Given the description of an element on the screen output the (x, y) to click on. 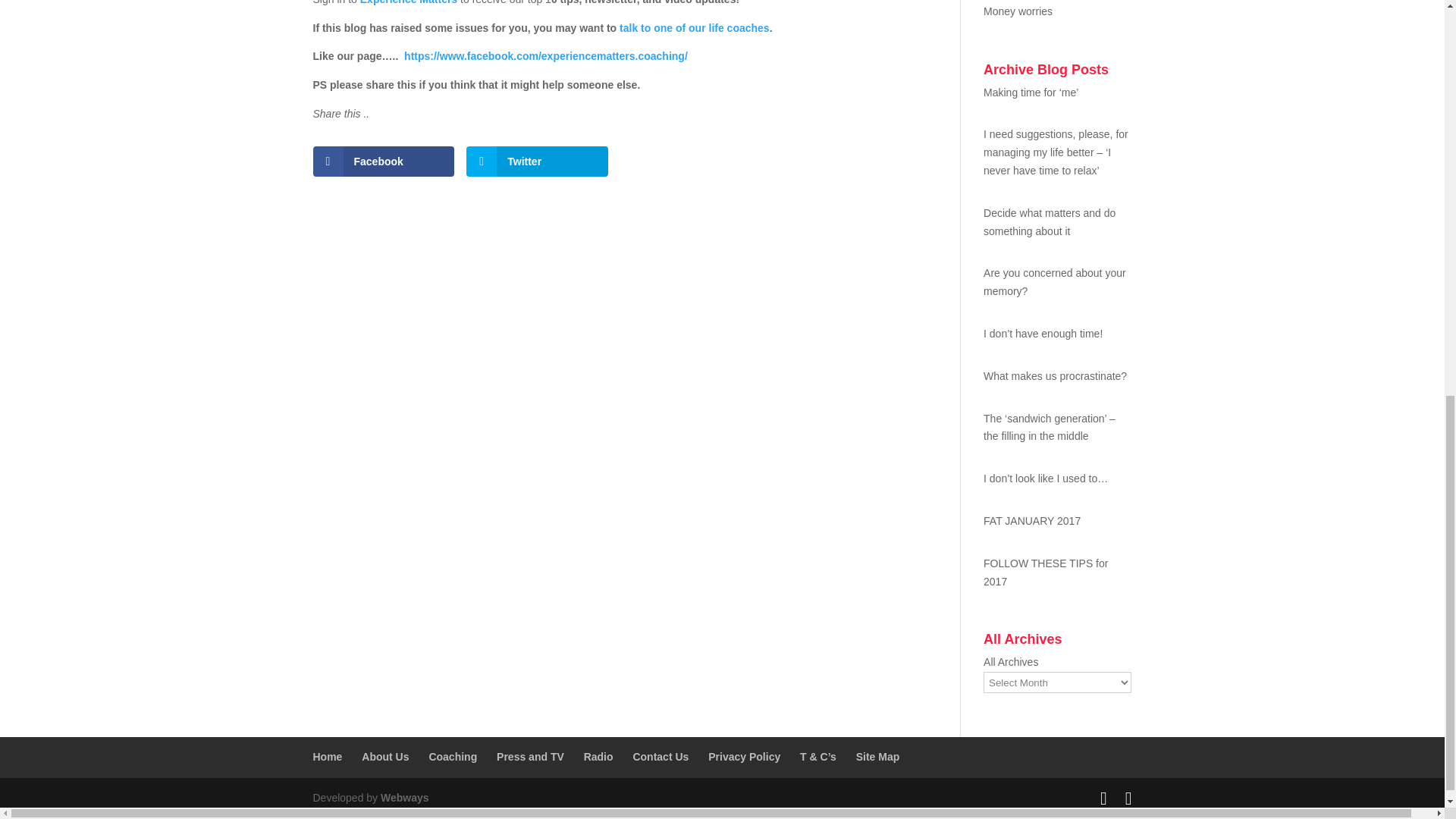
Money worries (1057, 12)
Are you concerned about your memory? (1057, 282)
Decide what matters and do something about it (1057, 222)
What makes us procrastinate? (1057, 376)
talk to one of our life coaches (695, 28)
Twitter (536, 161)
Facebook (383, 161)
Experience Matters (408, 2)
